Given the description of an element on the screen output the (x, y) to click on. 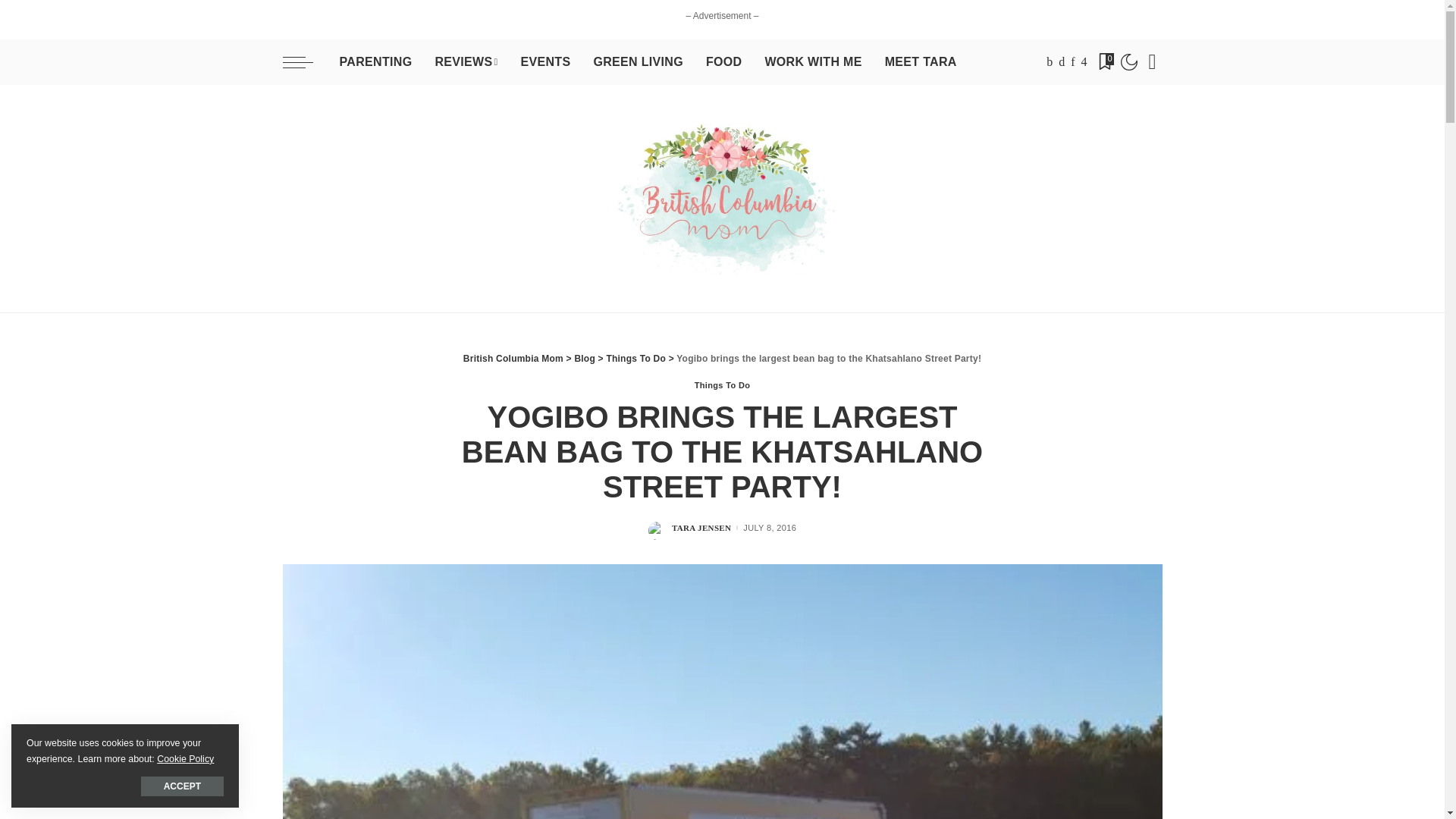
REVIEWS (465, 62)
MEET TARA (920, 62)
Go to Blog. (584, 357)
British Columbia Mom (722, 198)
WORK WITH ME (812, 62)
Go to British Columbia Mom. (513, 357)
PARENTING (375, 62)
EVENTS (544, 62)
FOOD (724, 62)
GREEN LIVING (637, 62)
